Given the description of an element on the screen output the (x, y) to click on. 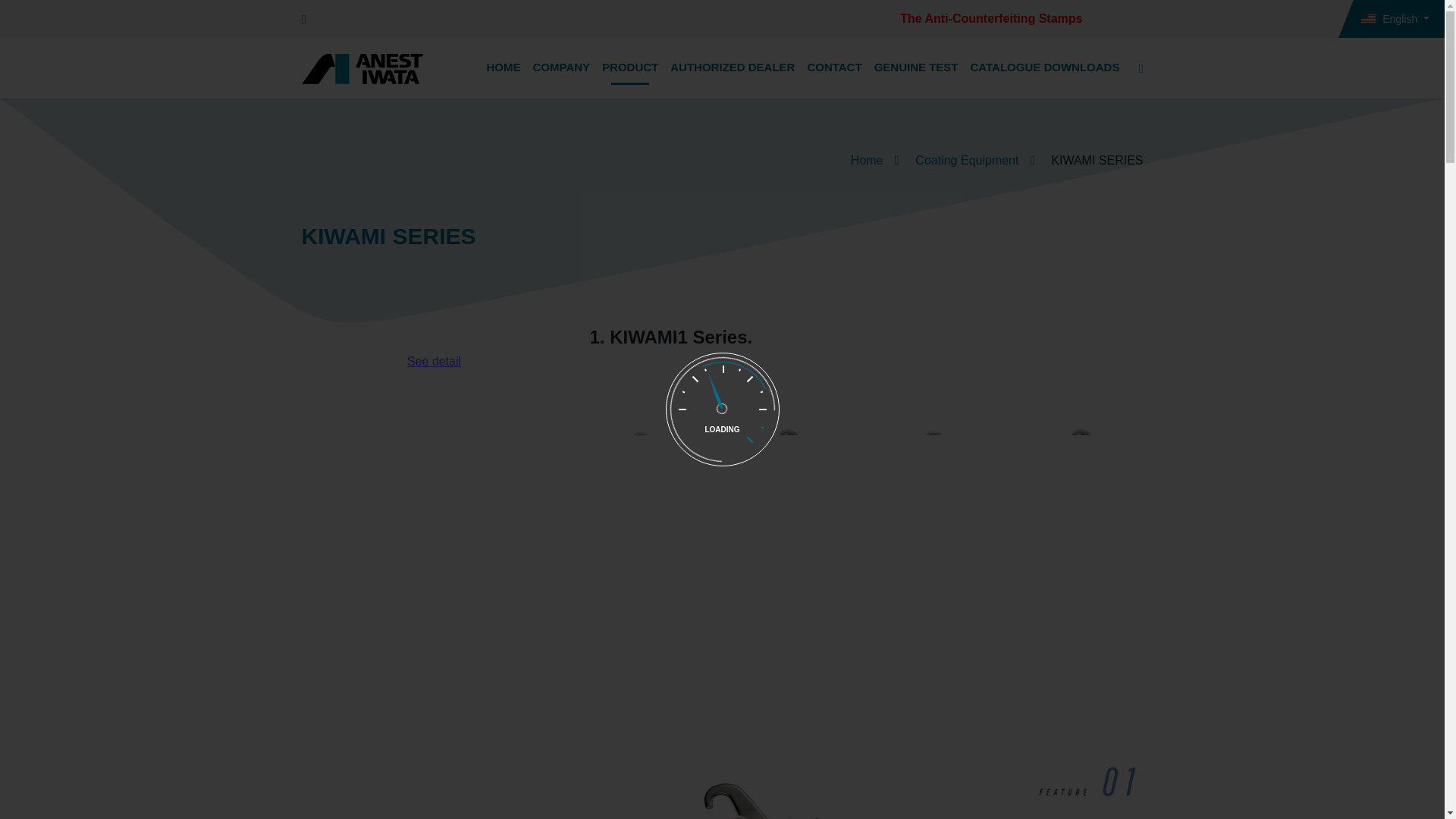
Genuine test (915, 67)
Catalogue downloads (1044, 67)
Product (629, 67)
PRODUCT (629, 67)
Coating Equipment (966, 160)
Anest Iwata Vietnam (362, 69)
CATALOGUE DOWNLOADS (1044, 67)
Home (866, 160)
Home (503, 67)
AUTHORIZED DEALER (731, 67)
